Given the description of an element on the screen output the (x, y) to click on. 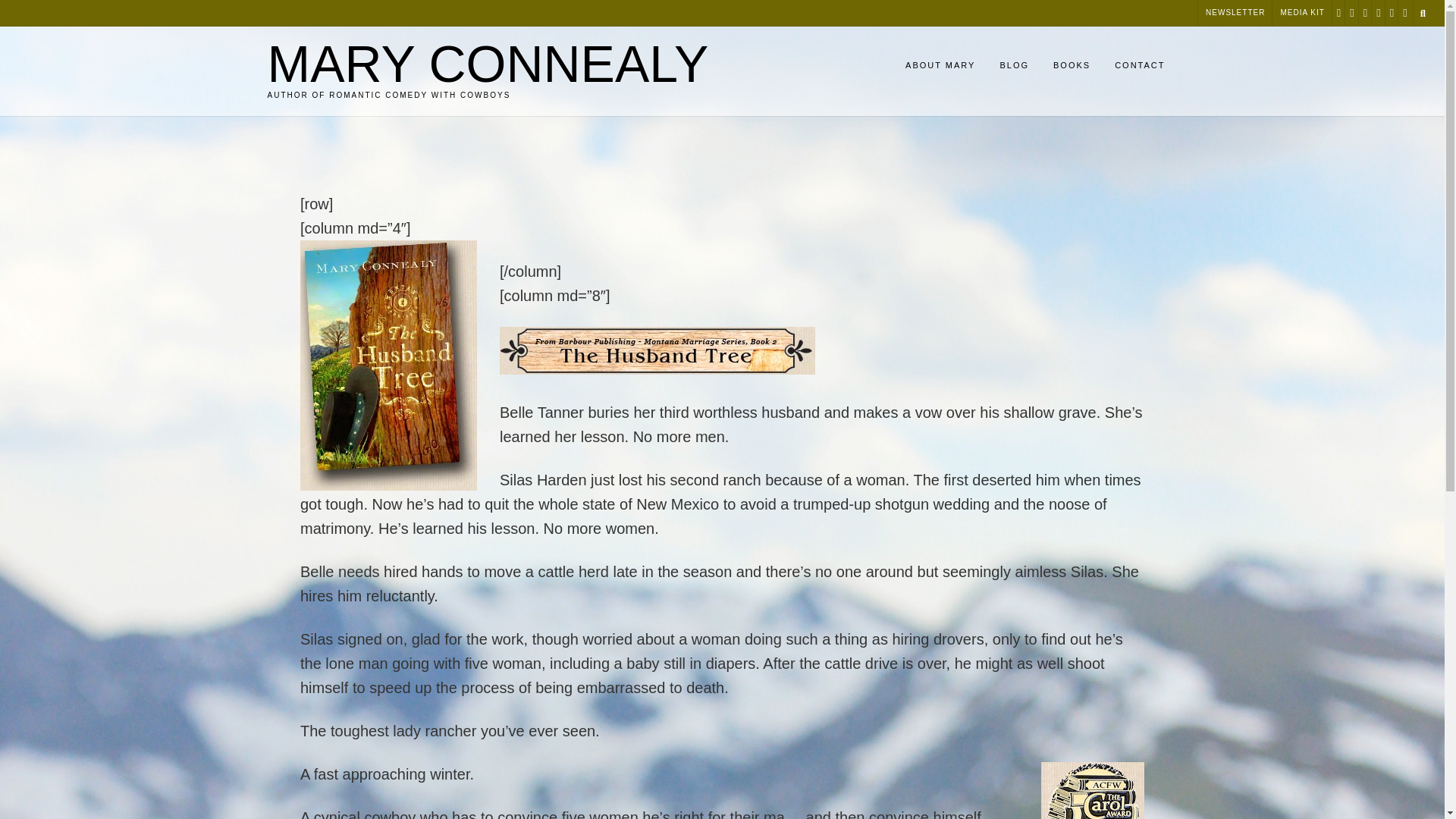
NEWSLETTER (1235, 13)
Mary Connealy (486, 63)
CONTACT (1139, 66)
MEDIA KIT (1302, 13)
MARY CONNEALY (486, 63)
ABOUT MARY (940, 66)
